Given the description of an element on the screen output the (x, y) to click on. 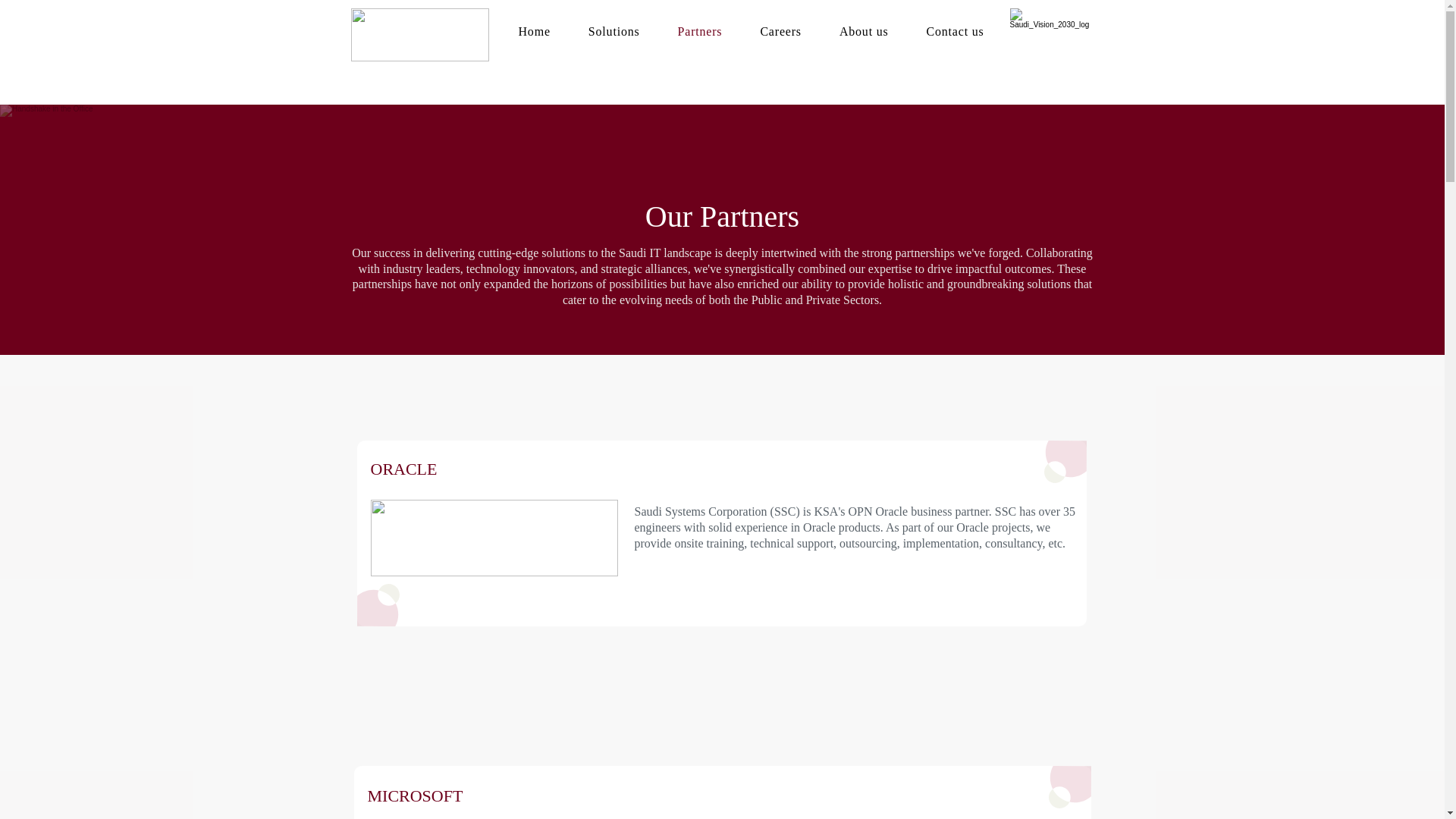
Contact us (936, 31)
Solutions (595, 31)
Partners (681, 31)
Home (515, 31)
About us (845, 31)
Careers (761, 31)
